Given the description of an element on the screen output the (x, y) to click on. 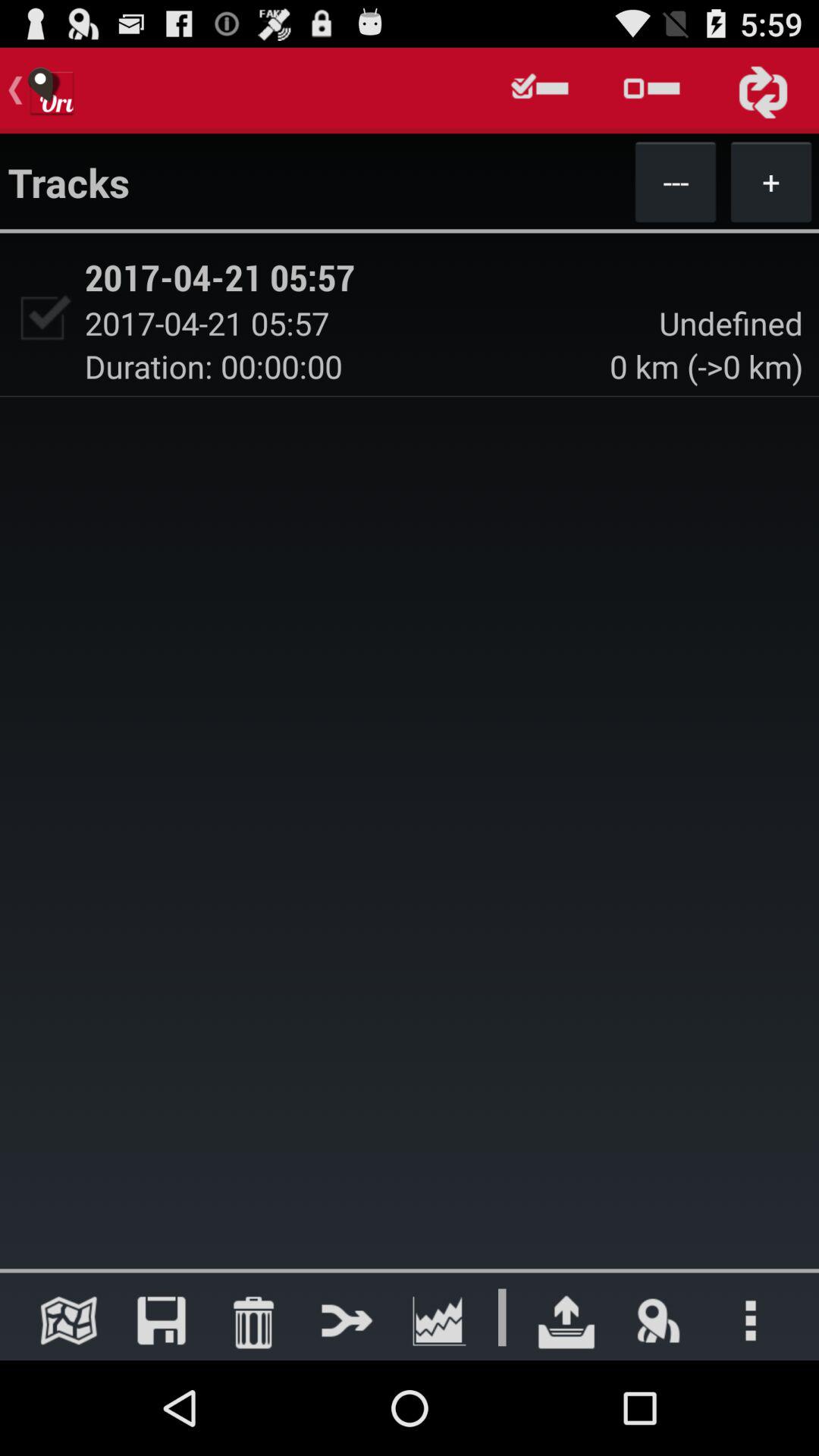
select button next to + (675, 181)
